Given the description of an element on the screen output the (x, y) to click on. 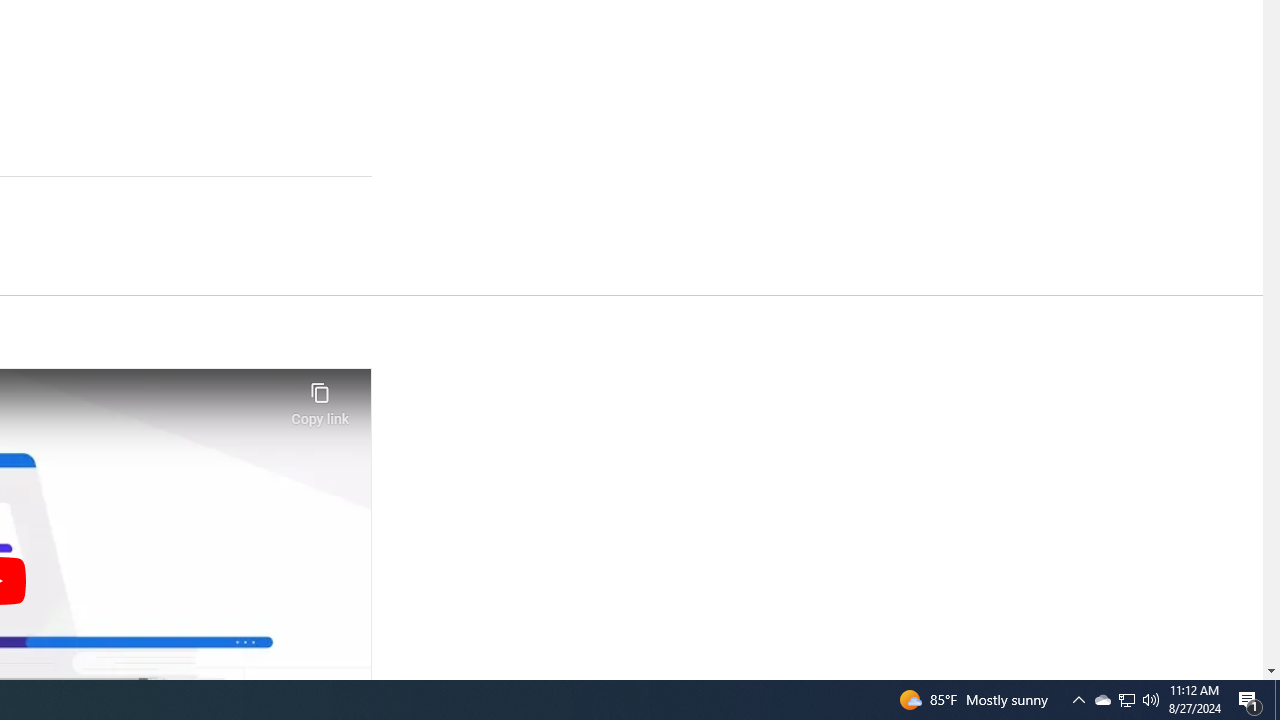
Copy link (319, 398)
